Given the description of an element on the screen output the (x, y) to click on. 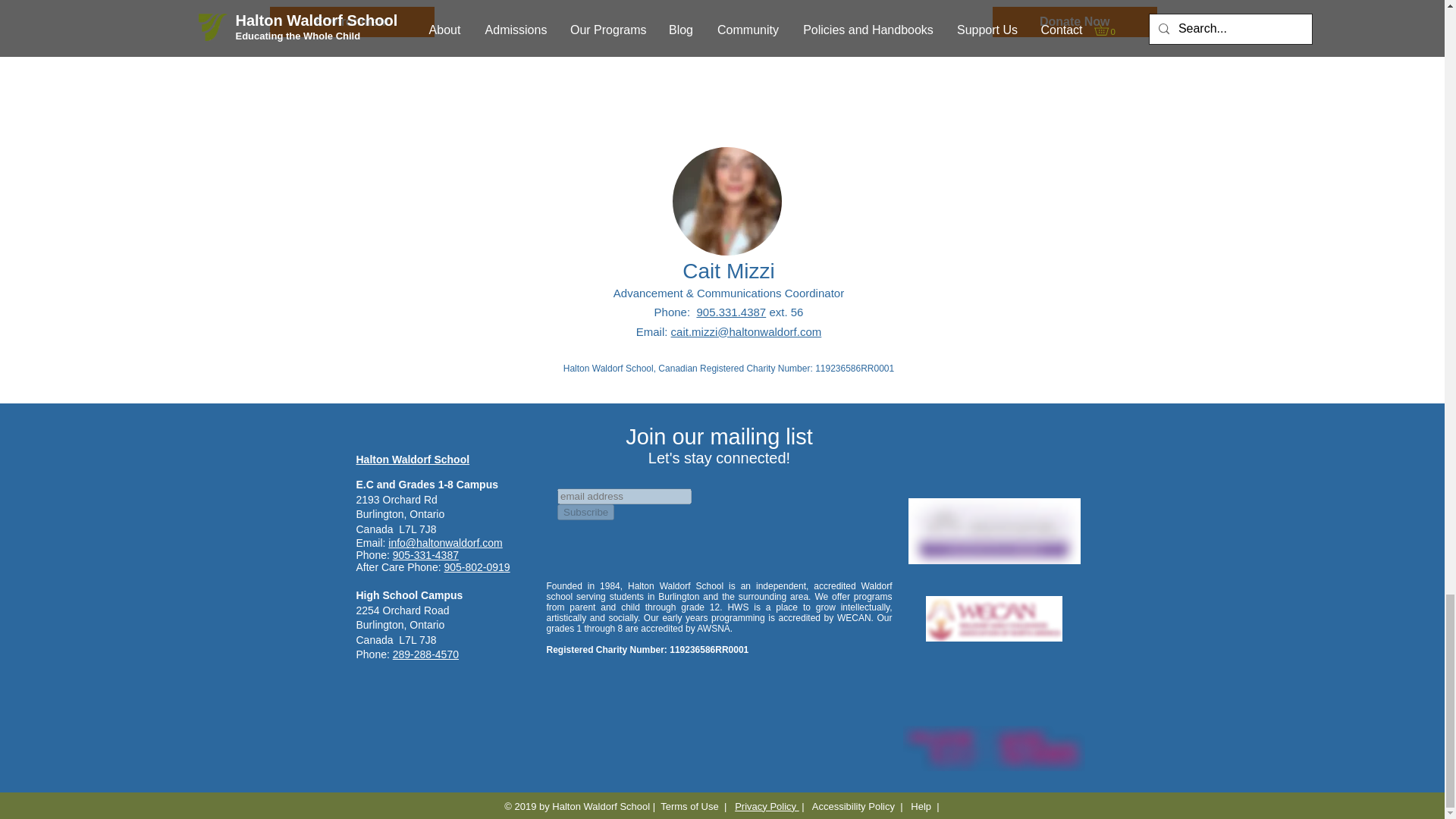
Environment (351, 21)
Embedded Content (721, 531)
Donate Now (1074, 21)
905.331.4387 (730, 311)
